Given the description of an element on the screen output the (x, y) to click on. 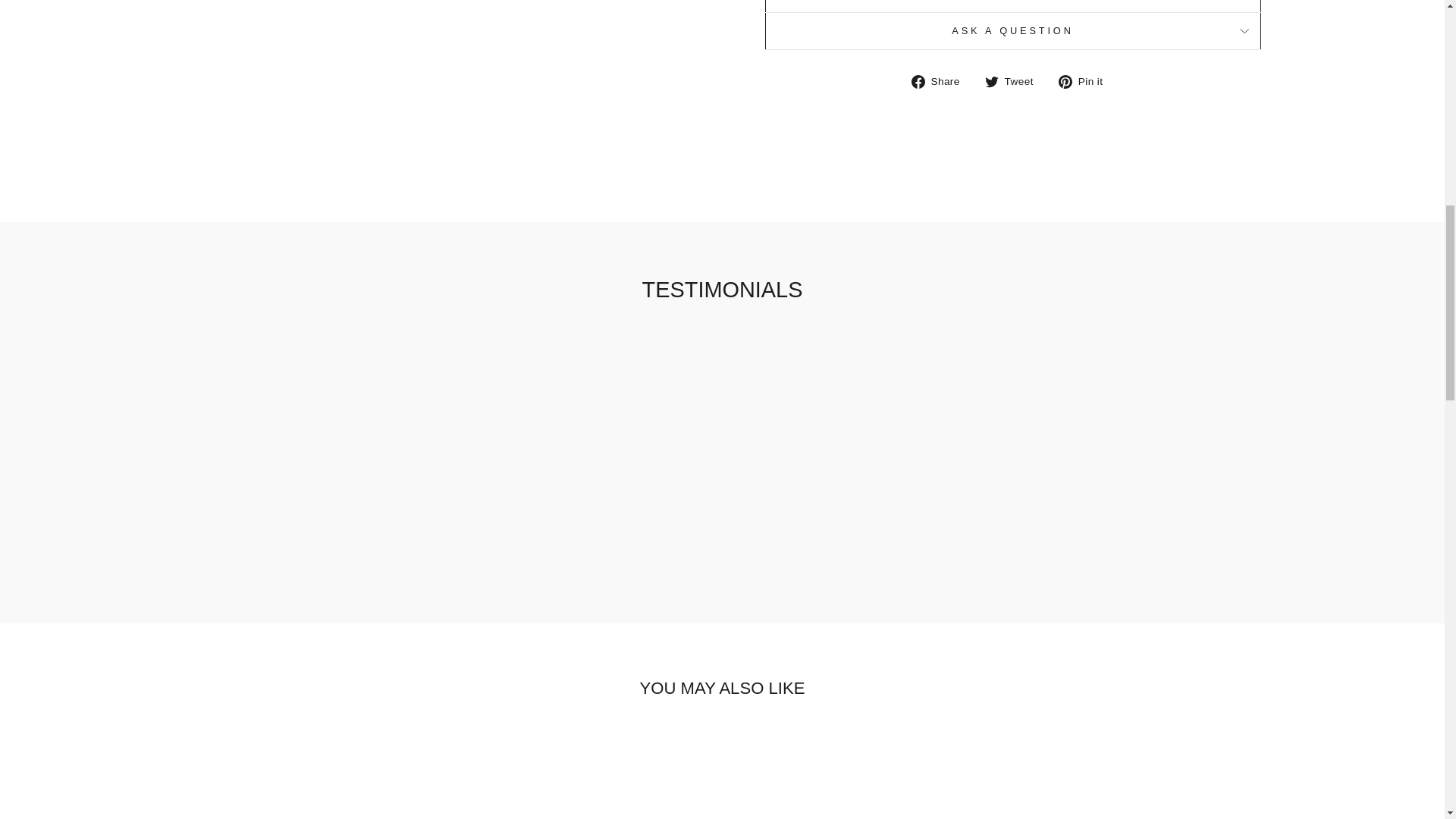
Pin on Pinterest (1085, 80)
Tweet on Twitter (1015, 80)
Share on Facebook (941, 80)
